Given the description of an element on the screen output the (x, y) to click on. 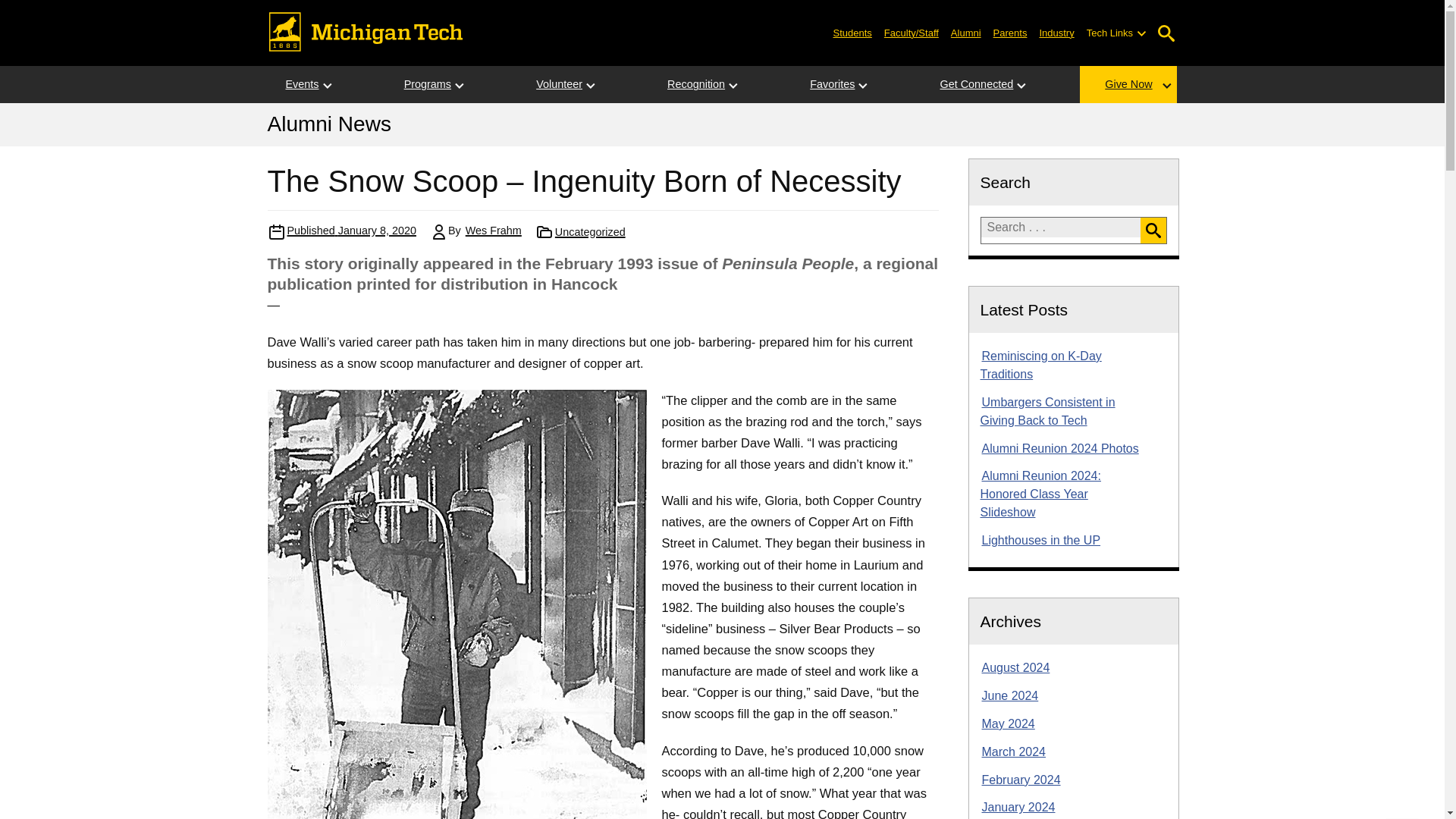
Industry (1056, 32)
Events (301, 84)
Alumni (965, 32)
Volunteer (558, 84)
Students (852, 32)
Parents (1010, 32)
Open Search (1166, 33)
Programs (426, 84)
